Given the description of an element on the screen output the (x, y) to click on. 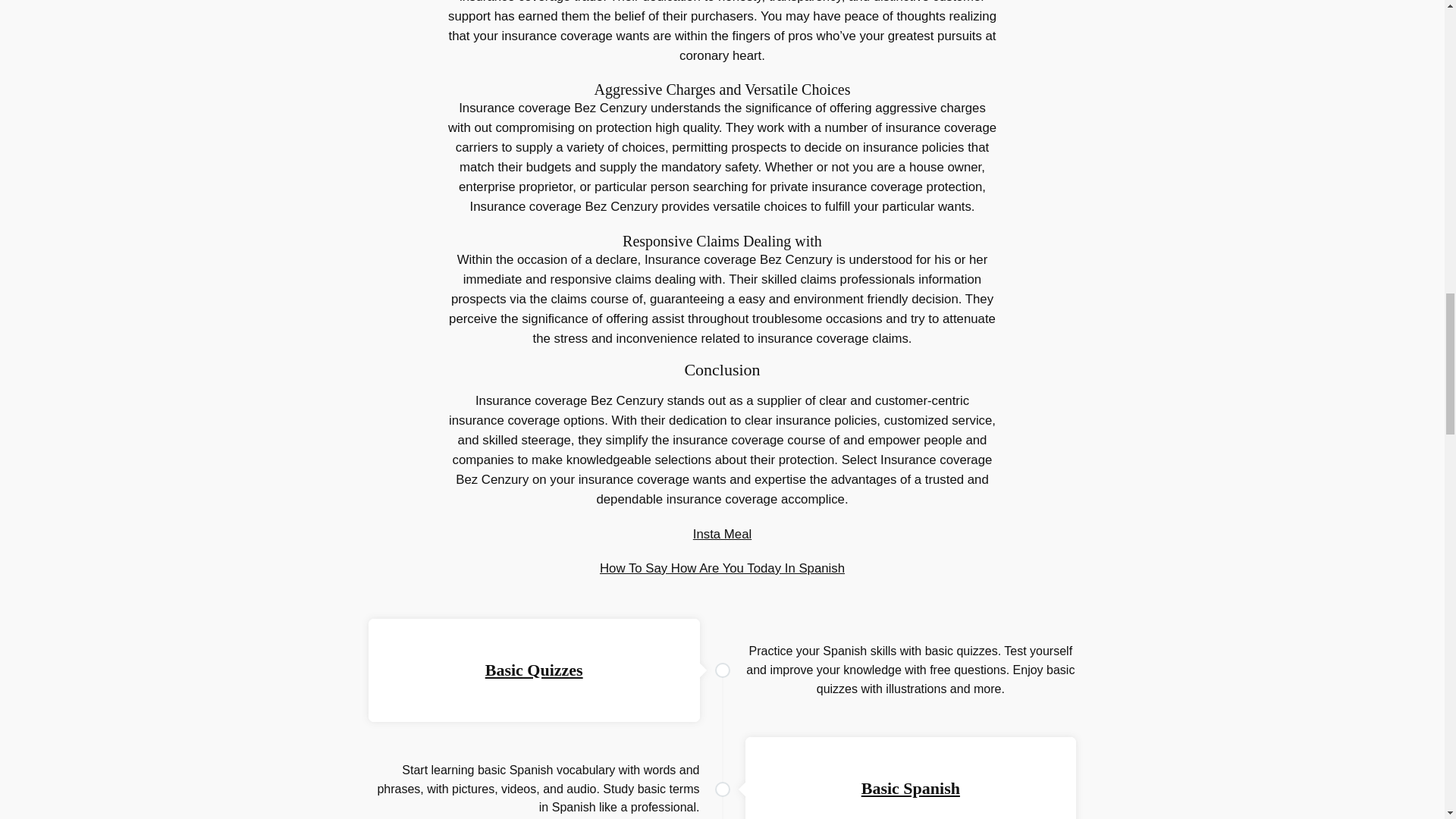
How To Say How Are You Today In Spanish (721, 568)
Insta Meal (722, 534)
Basic Quizzes (533, 669)
Basic Spanish (910, 787)
